Given the description of an element on the screen output the (x, y) to click on. 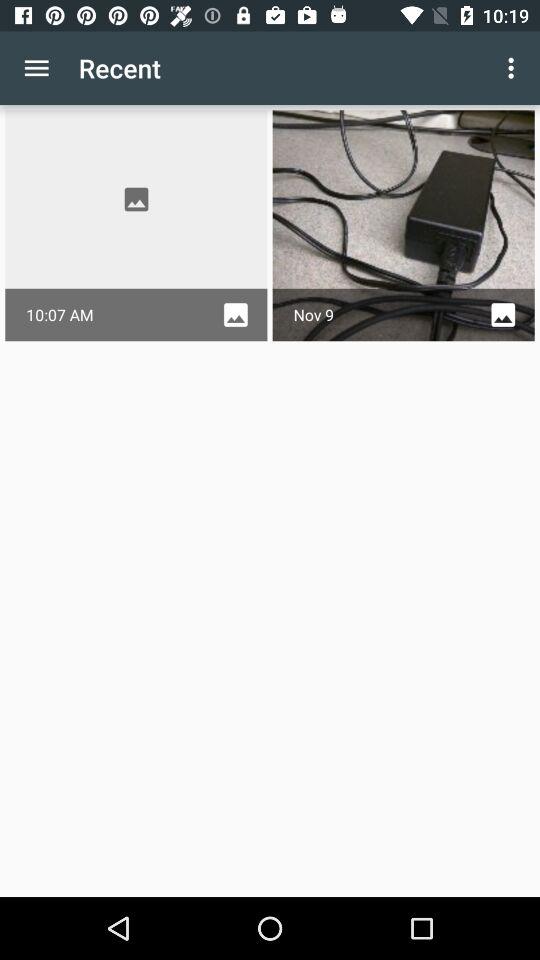
press the app to the left of recent (36, 68)
